Given the description of an element on the screen output the (x, y) to click on. 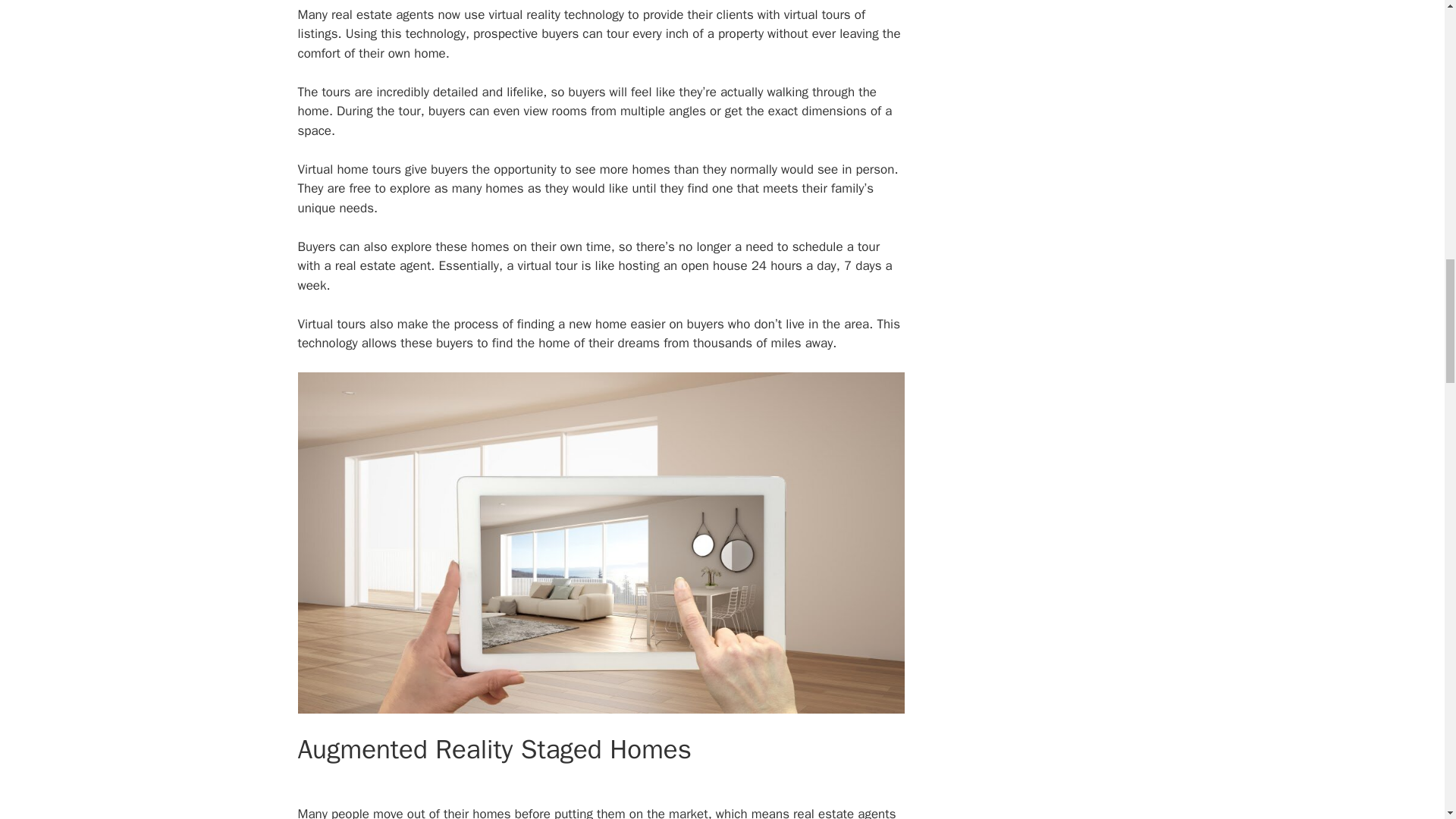
virtual reality technology (555, 14)
